Given the description of an element on the screen output the (x, y) to click on. 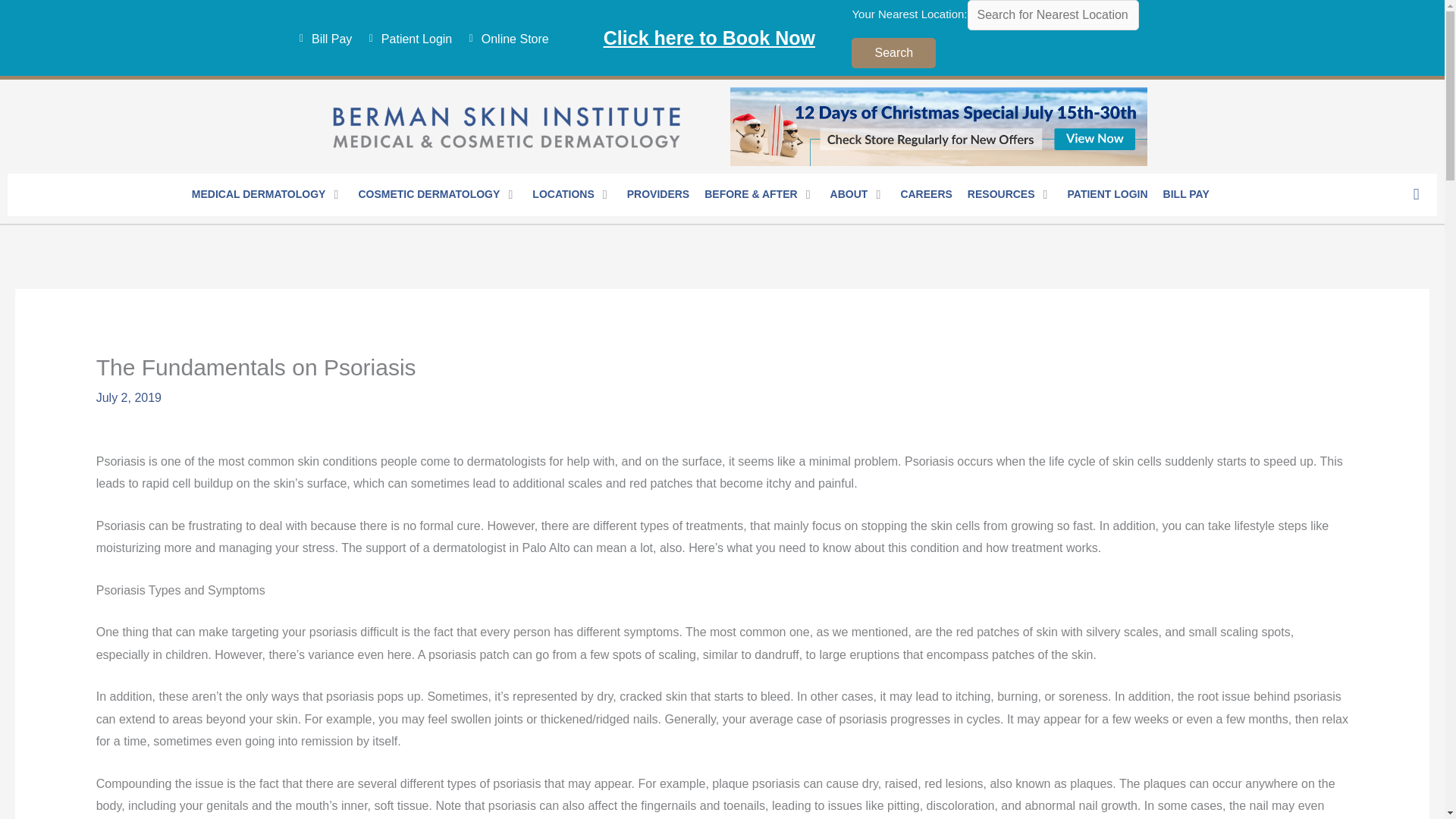
MEDICAL DERMATOLOGY (259, 194)
Patient Login (405, 38)
Online Store (504, 38)
Click here to Book Now (709, 37)
COSMETIC DERMATOLOGY (428, 194)
Search (893, 52)
Bill Pay (320, 38)
